Given the description of an element on the screen output the (x, y) to click on. 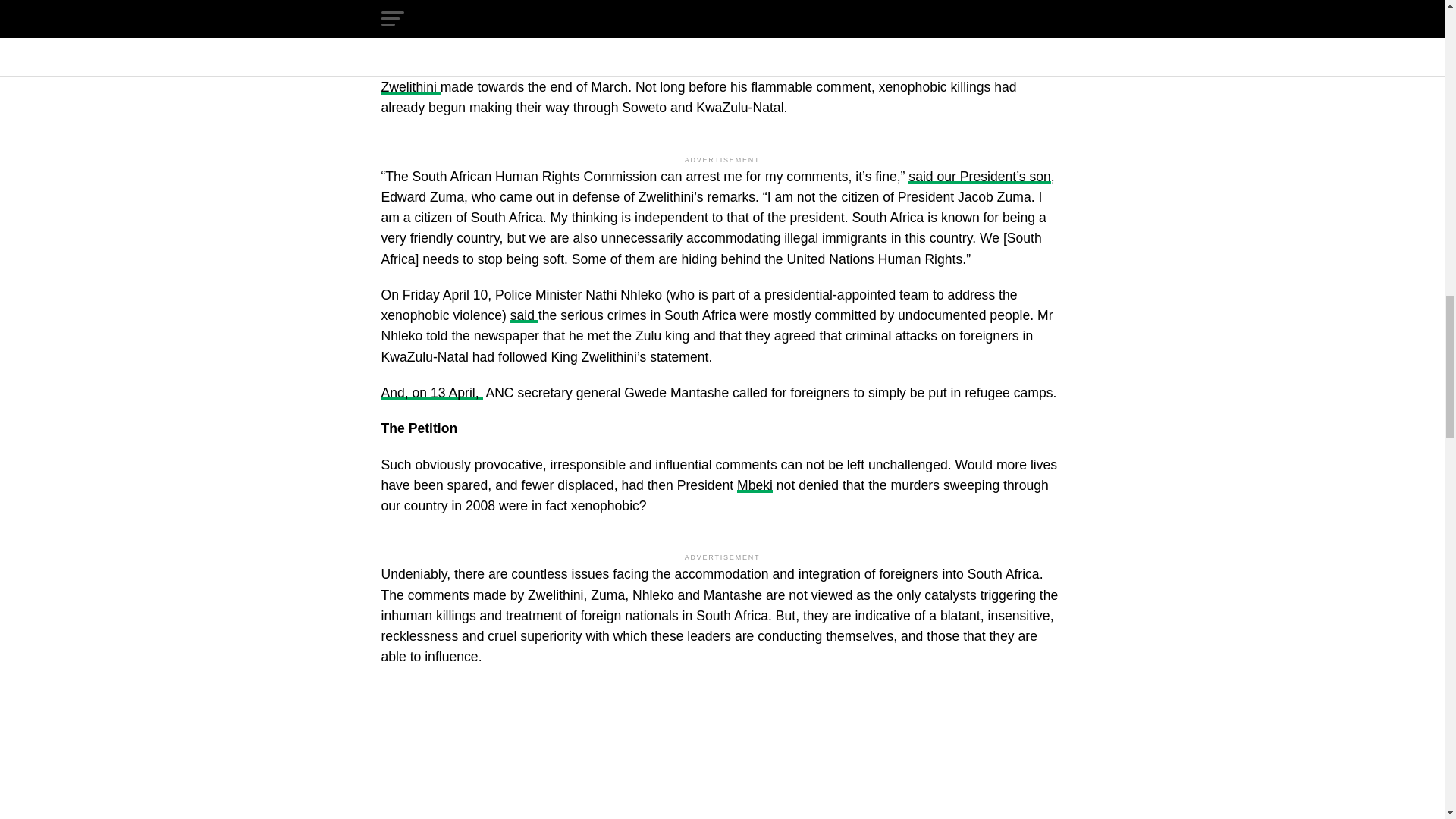
These are the words (819, 66)
Zulu King Goodwill Zwelithini (695, 76)
And, on 13 April, (430, 392)
Mbeki (754, 485)
said (524, 314)
